Given the description of an element on the screen output the (x, y) to click on. 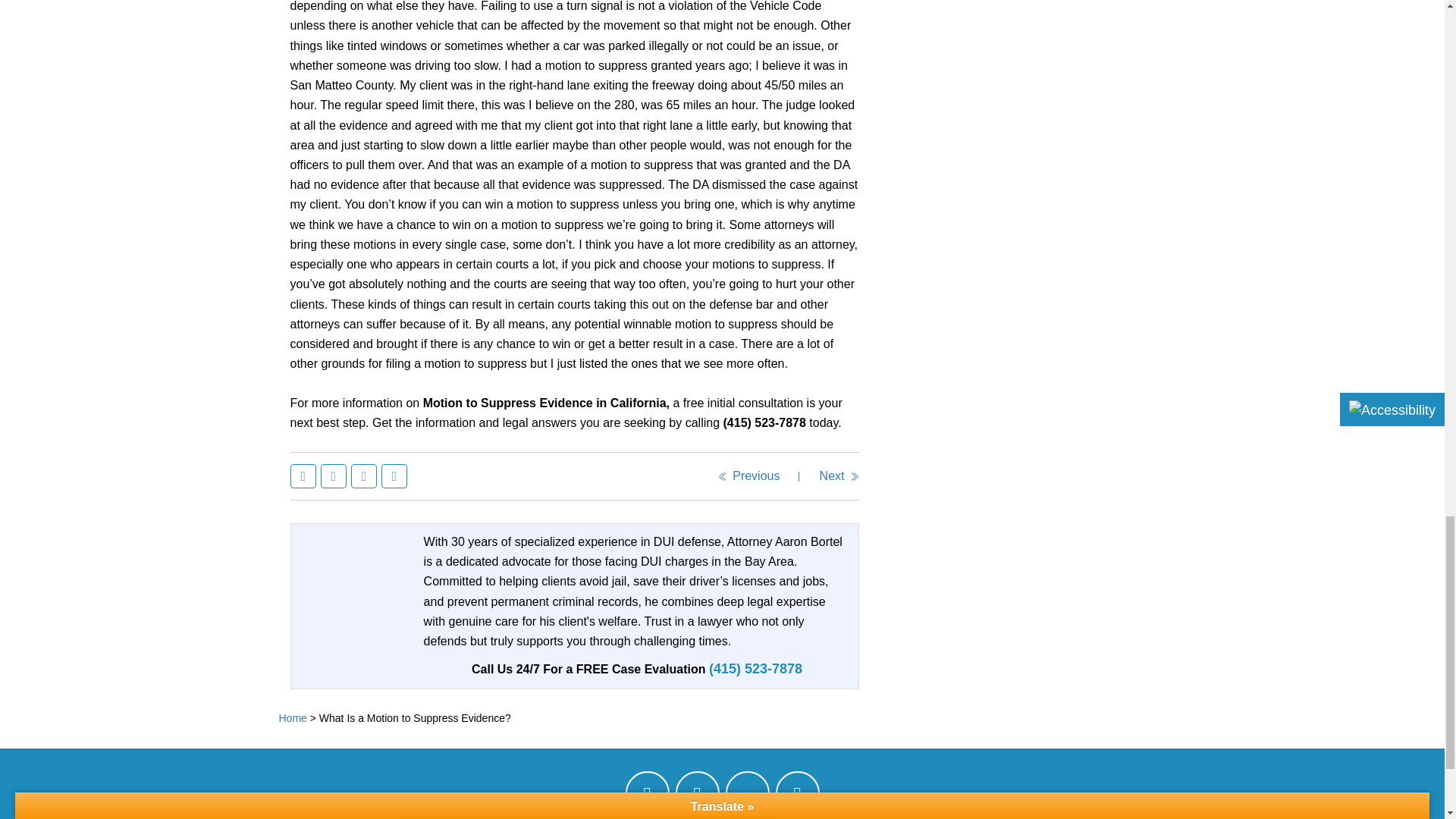
Twitter (335, 476)
Go to Aaron Bortel. (293, 717)
Facebook (304, 476)
Facebook (646, 797)
E-Mail (395, 476)
Yelp (697, 797)
Avvo (746, 792)
Youtube (796, 797)
LinkedIn (365, 476)
